Given the description of an element on the screen output the (x, y) to click on. 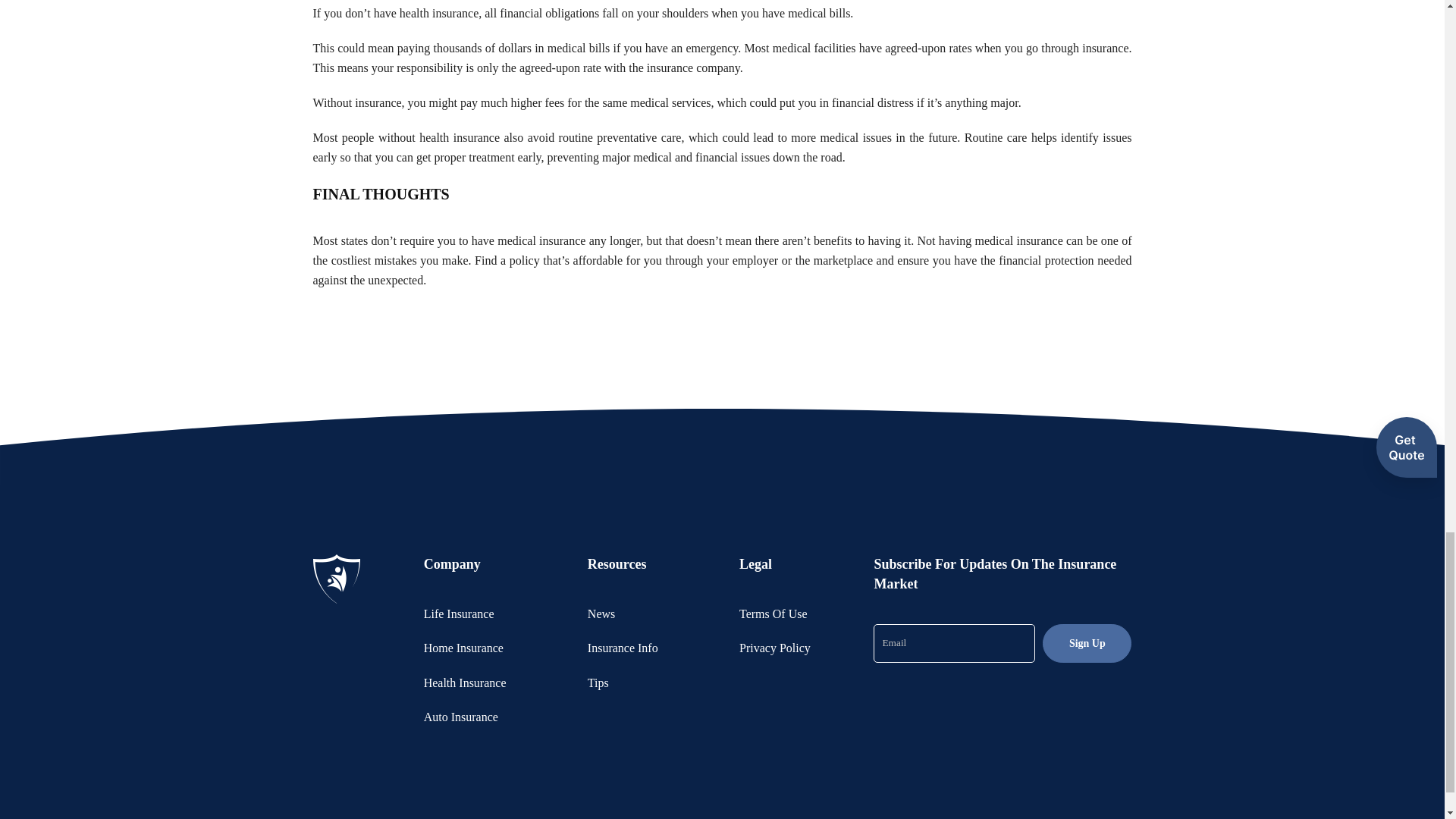
Insurance Info (623, 647)
Tips (598, 682)
Life Insurance (459, 613)
News (601, 613)
Privacy Policy (774, 647)
Health Insurance (464, 682)
Terms Of Use (773, 613)
Home Insurance (463, 647)
Auto Insurance (460, 716)
Sign Up (1086, 643)
